Given the description of an element on the screen output the (x, y) to click on. 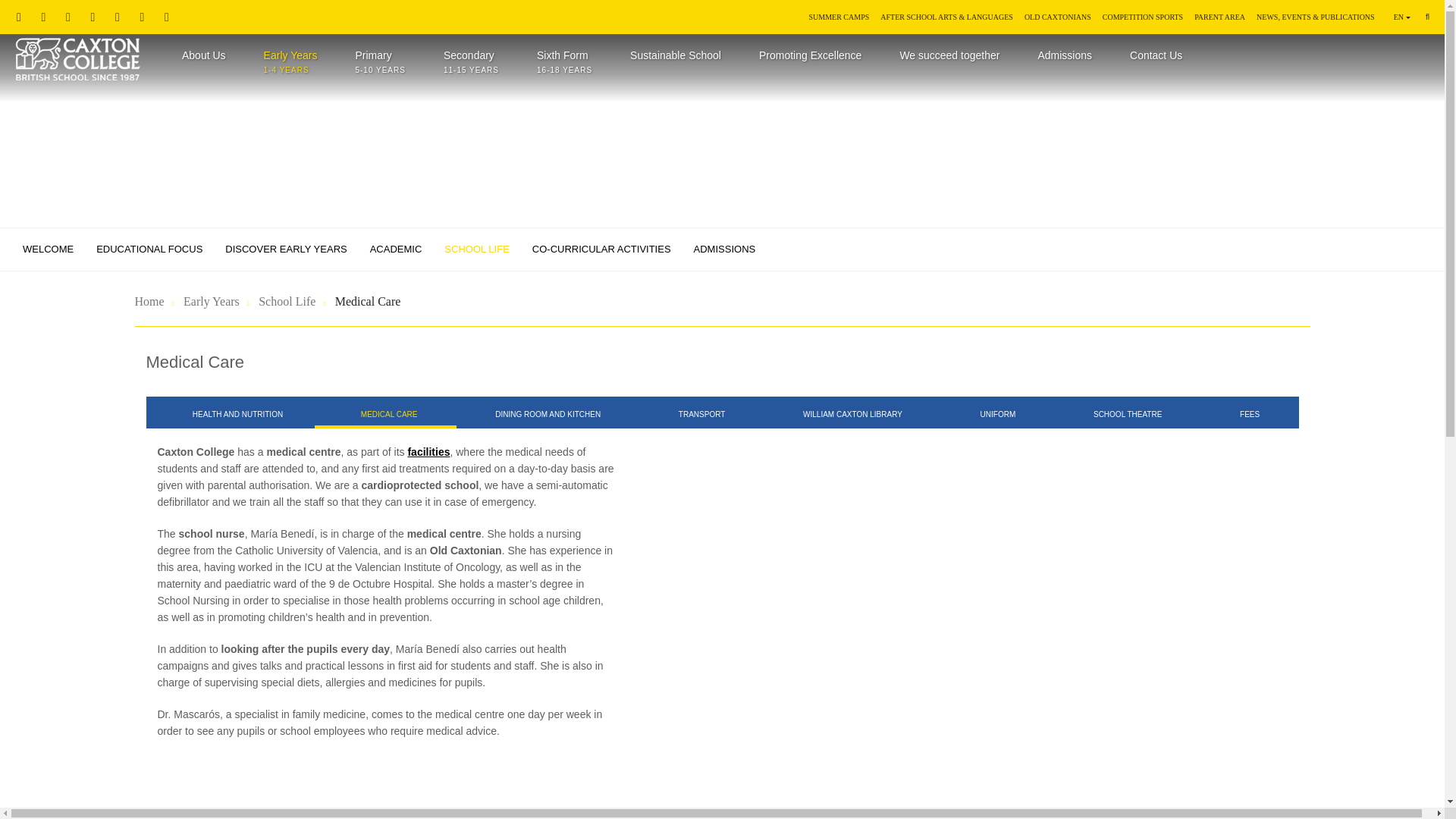
Promoting Excellence (809, 62)
OLD CAXTONIANS (1051, 13)
We succeed together (470, 62)
WELCOME (379, 62)
Logo Caxton College (949, 62)
EN (48, 248)
PARENT AREA (76, 61)
About Us (1402, 16)
EDUCATIONAL FOCUS (290, 62)
Admissions (1213, 13)
Sustainable School (203, 62)
Contact Us (149, 248)
